Given the description of an element on the screen output the (x, y) to click on. 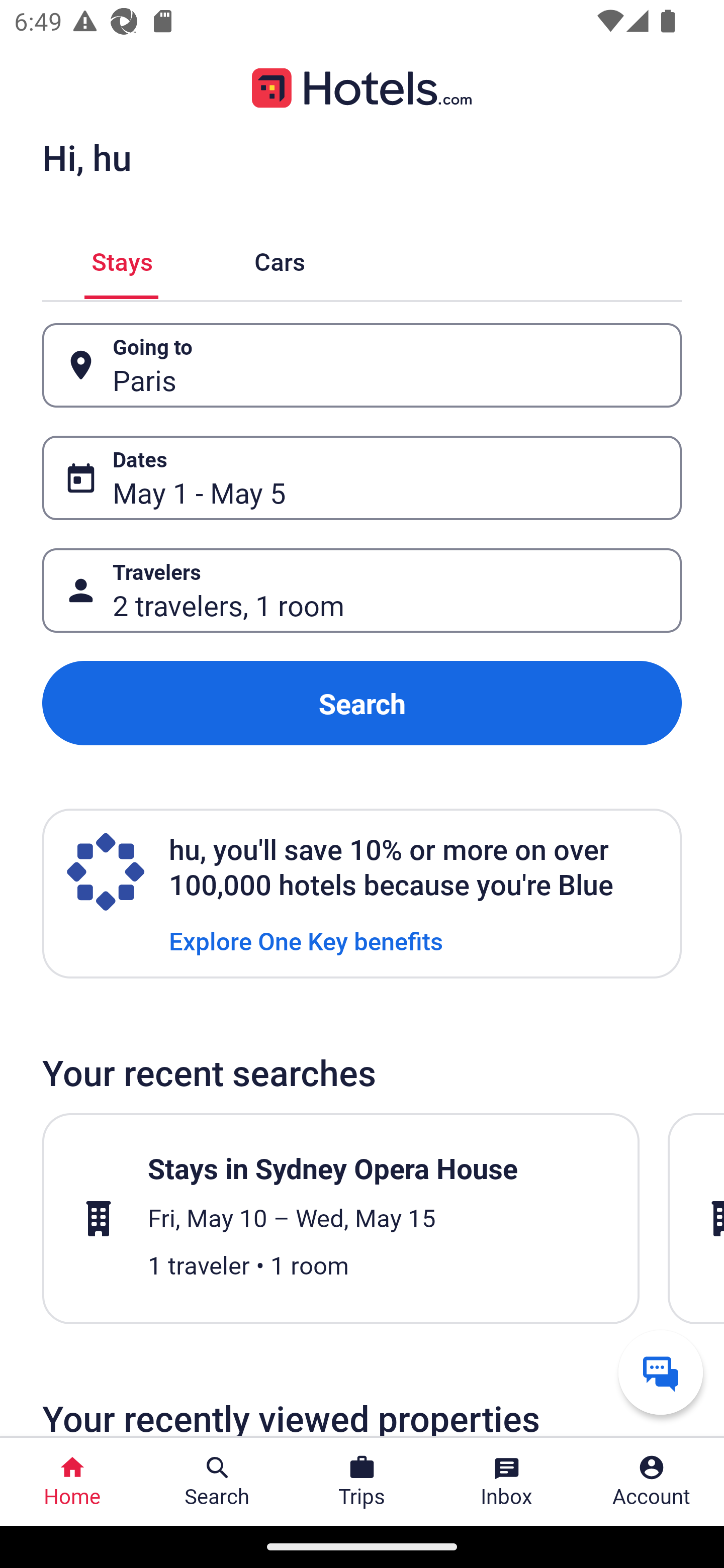
Hi, hu (86, 156)
Cars (279, 259)
Going to Button Paris (361, 365)
Dates Button May 1 - May 5 (361, 477)
Travelers Button 2 travelers, 1 room (361, 590)
Search (361, 702)
Get help from a virtual agent (660, 1371)
Search Search Button (216, 1481)
Trips Trips Button (361, 1481)
Inbox Inbox Button (506, 1481)
Account Profile. Button (651, 1481)
